Given the description of an element on the screen output the (x, y) to click on. 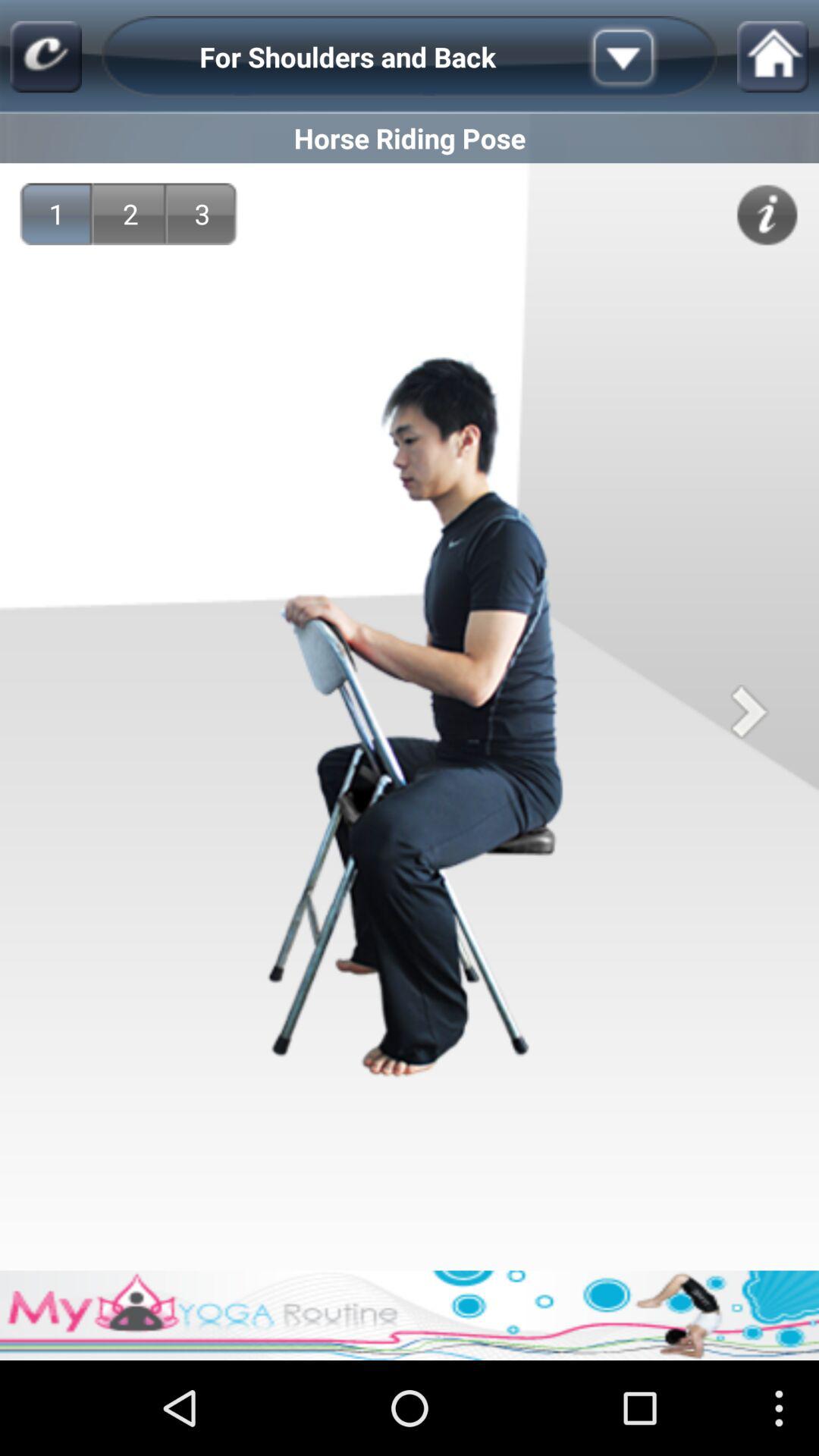
get information (767, 214)
